Given the description of an element on the screen output the (x, y) to click on. 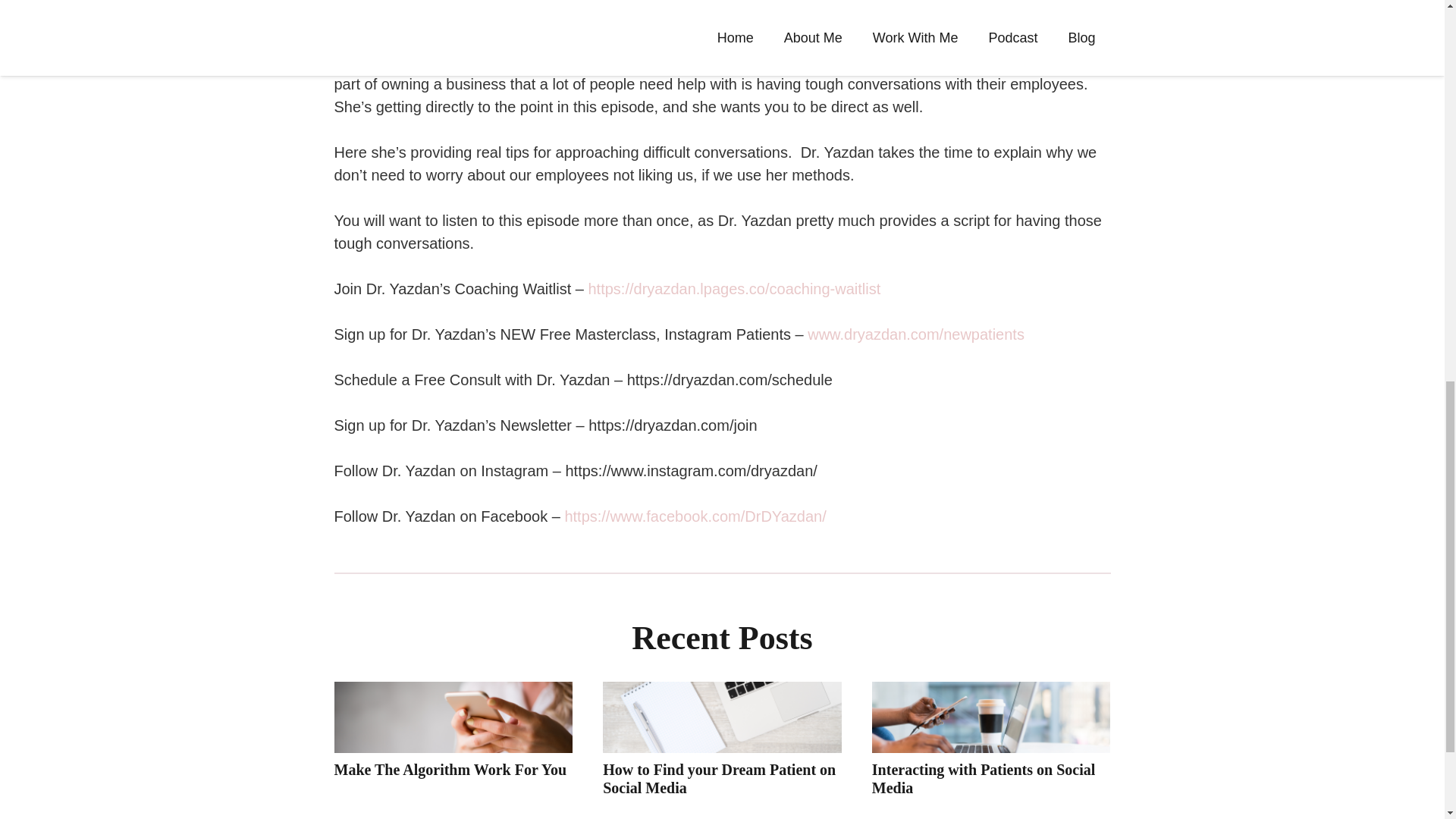
The Social Dentist - Dr. Desiree Yazdan (400, 38)
Interacting with Patients on Social Media (983, 778)
The Social Dentist - Dr. Desiree Yazdan (400, 38)
Episode 164 - What Platform is Best For Marketing in 2022 (572, 38)
How to Find your Dream Patient on Social Media (718, 778)
Make The Algorithm Work For You (449, 769)
Back to top (1413, 26)
Episode 164 - What Platform is Best For Marketing in 2022 (572, 38)
